Given the description of an element on the screen output the (x, y) to click on. 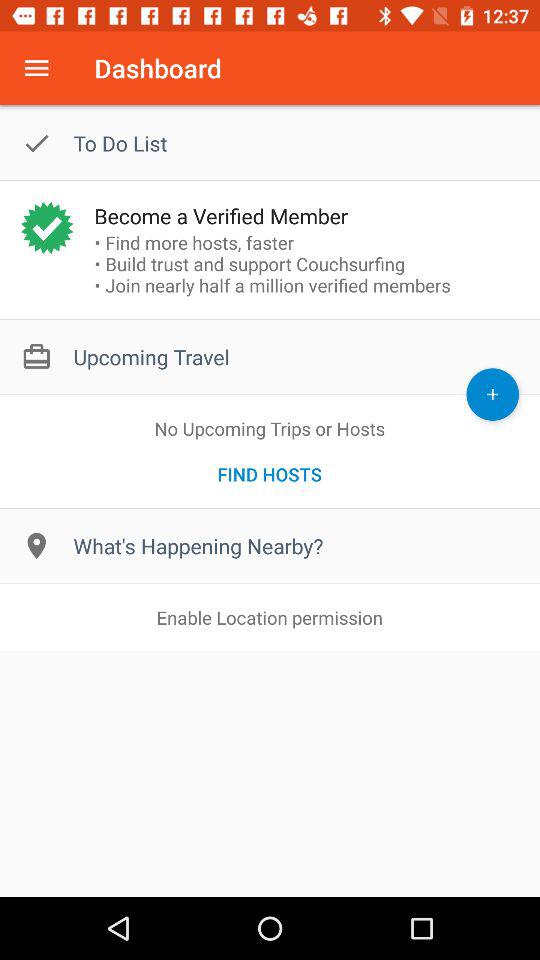
choose icon next to the no upcoming trips item (492, 394)
